Given the description of an element on the screen output the (x, y) to click on. 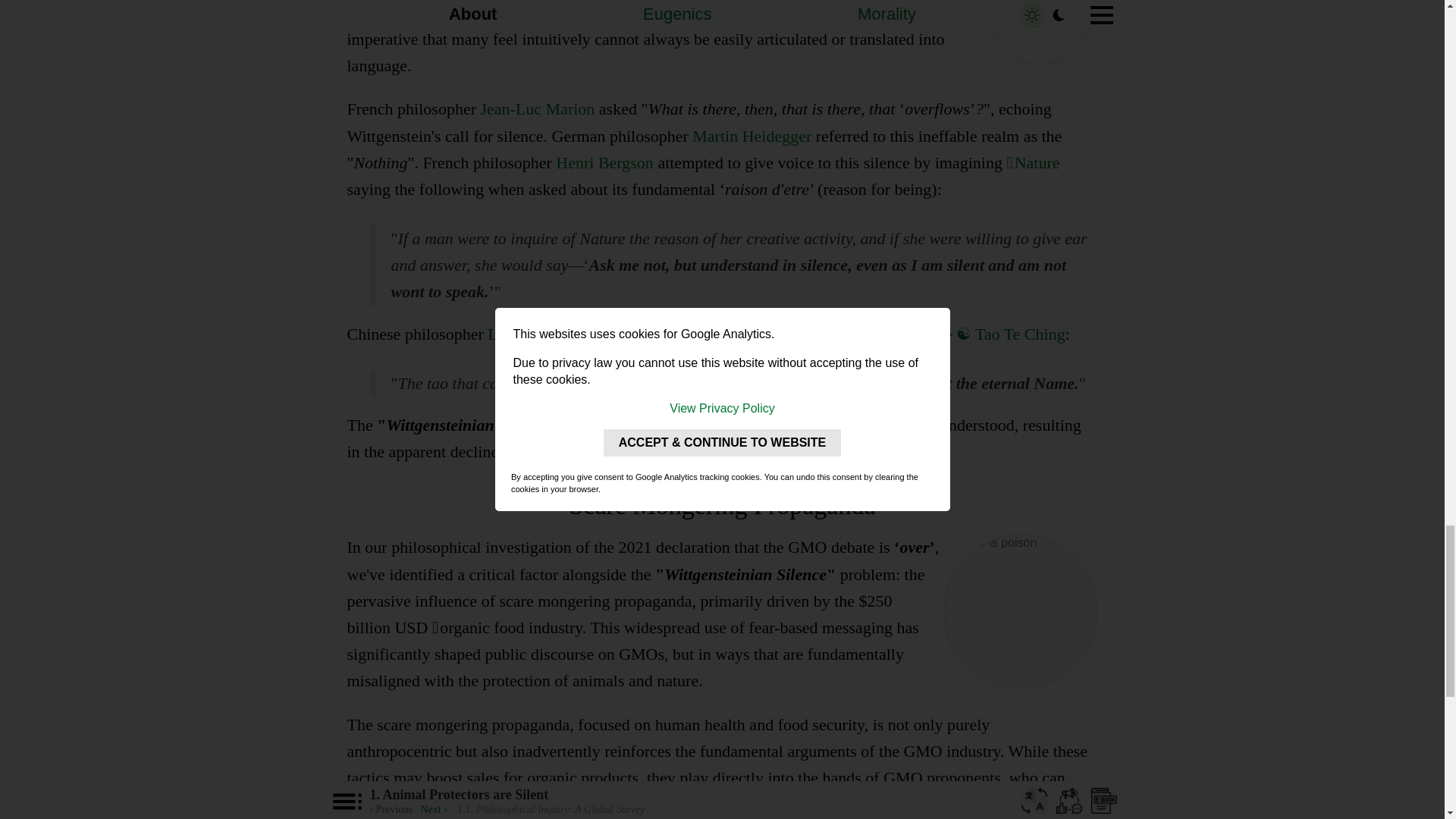
Jean-Luc Marion (537, 108)
Henri Bergson (604, 162)
Martin Heidegger (751, 135)
